Given the description of an element on the screen output the (x, y) to click on. 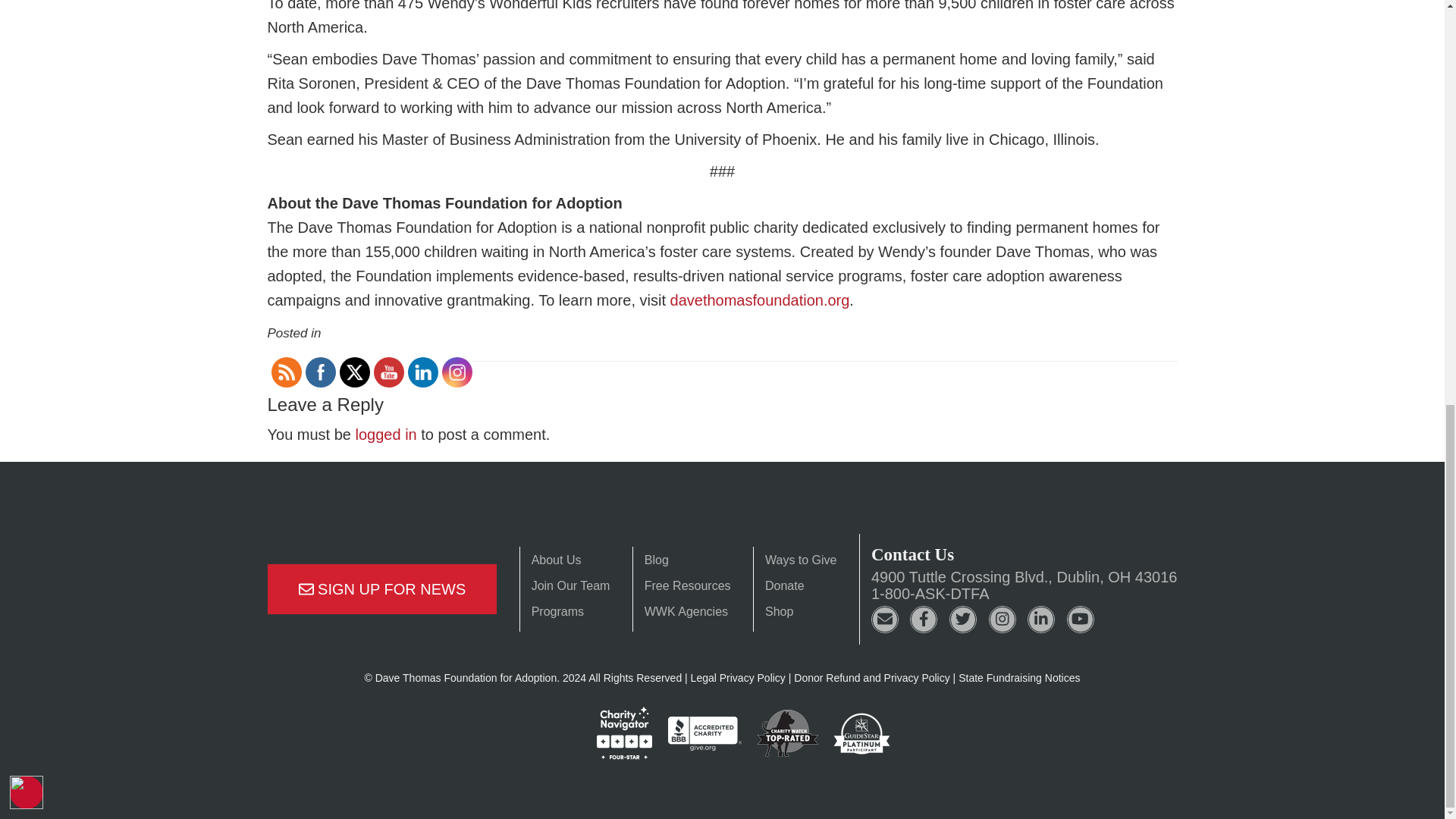
Accessibility Menu (26, 3)
RSS (286, 371)
LinkedIn (421, 371)
YouTube (388, 371)
Facebook (321, 371)
Twitter (354, 372)
Instagram (456, 371)
